Given the description of an element on the screen output the (x, y) to click on. 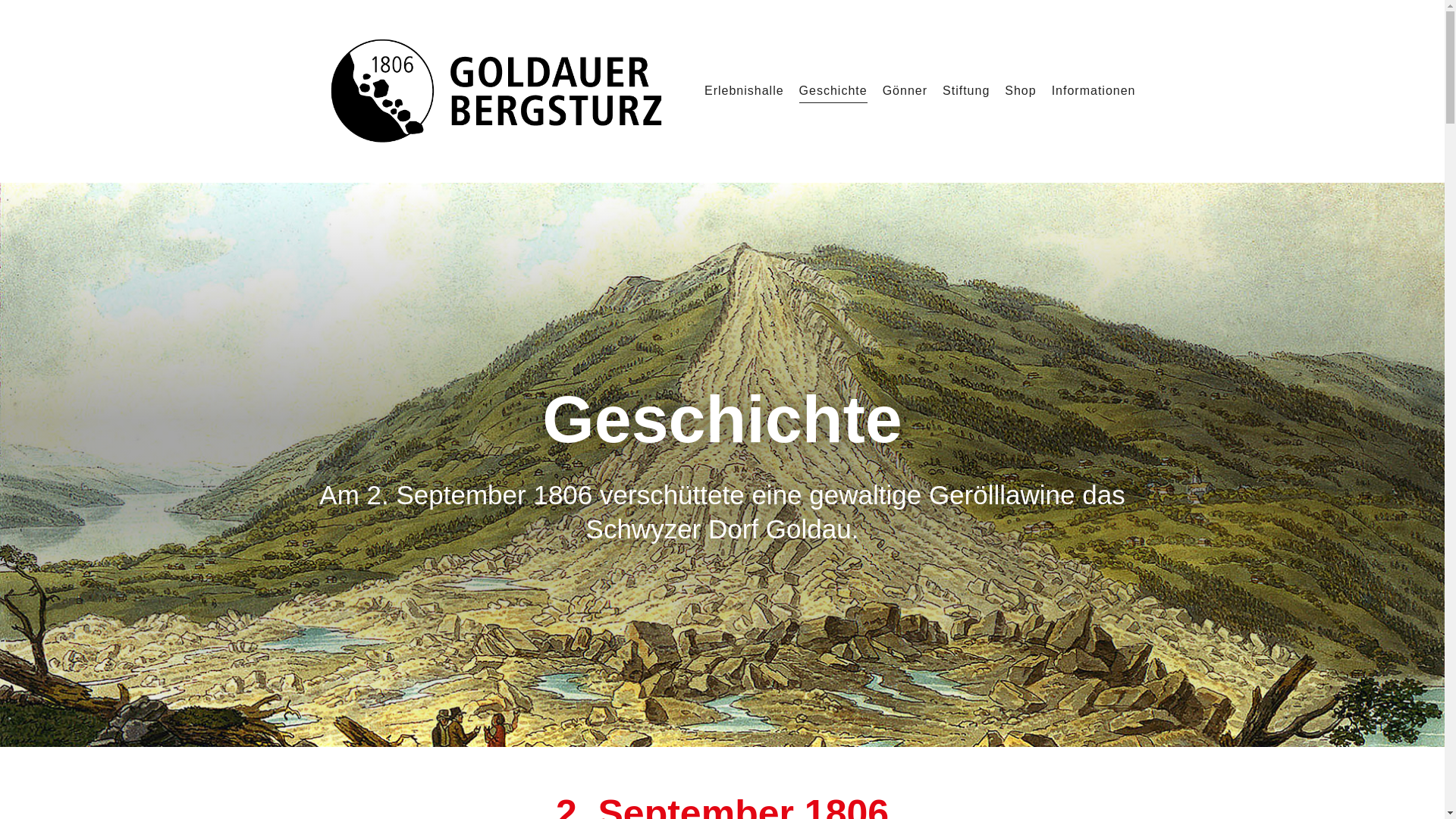
Stiftung Element type: text (965, 90)
Informationen Element type: text (1093, 90)
Erlebnishalle Element type: text (744, 90)
Shop Element type: text (1019, 90)
Geschichte
active Element type: text (833, 91)
